Given the description of an element on the screen output the (x, y) to click on. 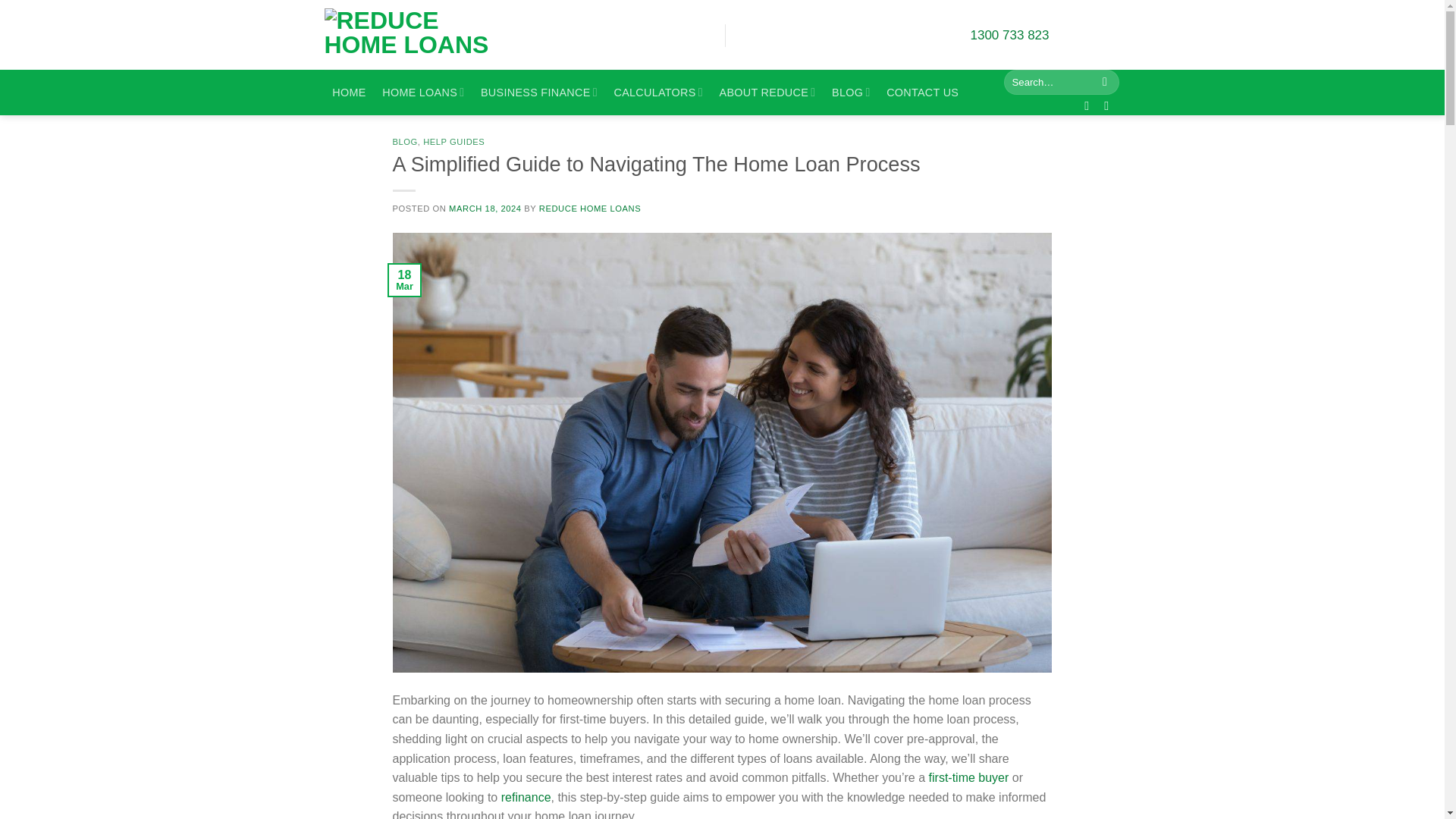
Follow on LinkedIn (1109, 105)
Follow on Facebook (1090, 105)
BUSINESS FINANCE (538, 92)
Reduce Home Loans - Reduce Home Loans (420, 35)
ABOUT REDUCE (767, 92)
1300 733 823 (1010, 34)
HOME LOANS (422, 92)
CALCULATORS (658, 92)
HOME (349, 92)
